Given the description of an element on the screen output the (x, y) to click on. 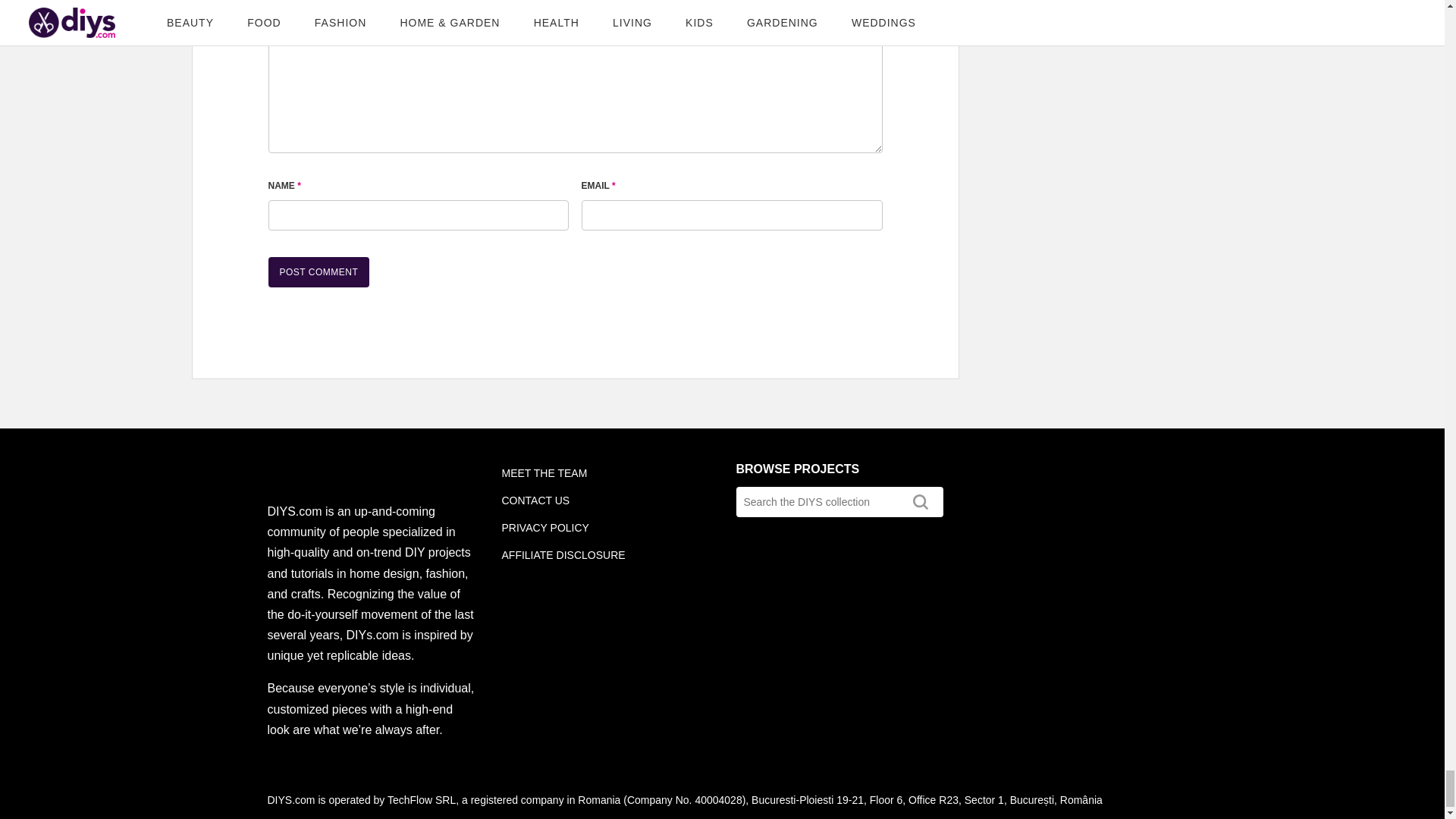
Post Comment (318, 272)
DIYS.com (304, 473)
About DIYs: The Team (545, 472)
Post Comment (318, 272)
